Given the description of an element on the screen output the (x, y) to click on. 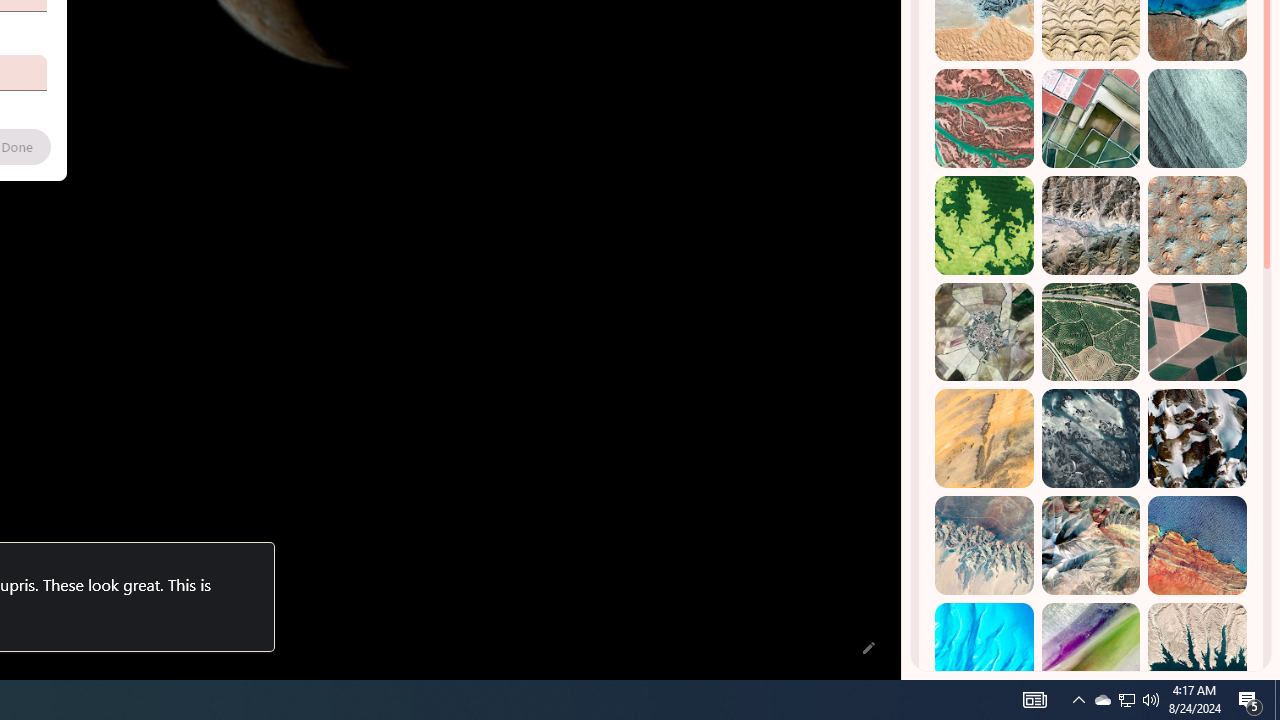
Pozoantiguo, Spain (984, 332)
Libya (1197, 545)
Side Panel Resize Handle (905, 39)
Atar, Mauritania (984, 438)
Iceland (1197, 119)
